Given the description of an element on the screen output the (x, y) to click on. 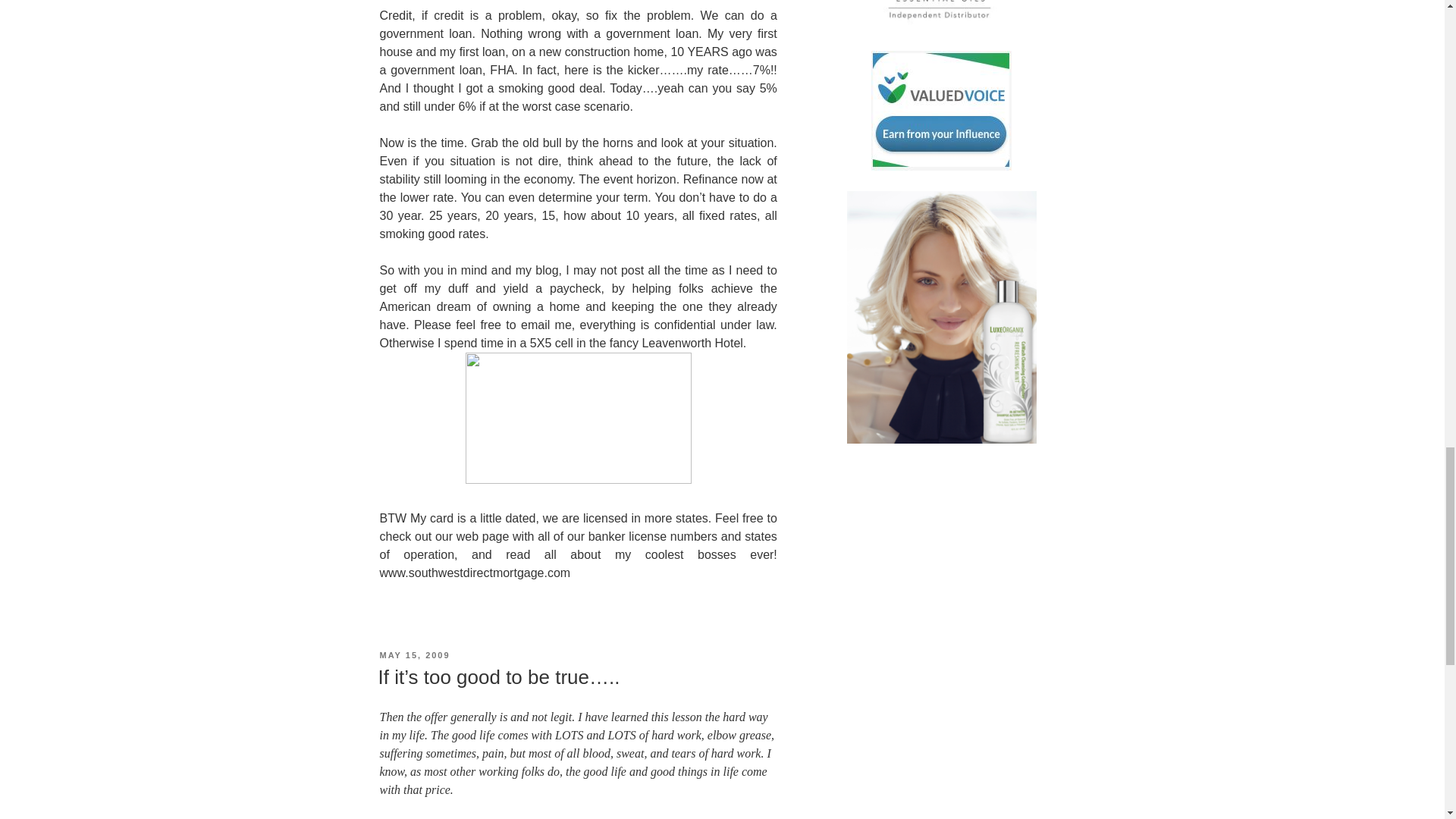
MAY 15, 2009 (413, 655)
